Given the description of an element on the screen output the (x, y) to click on. 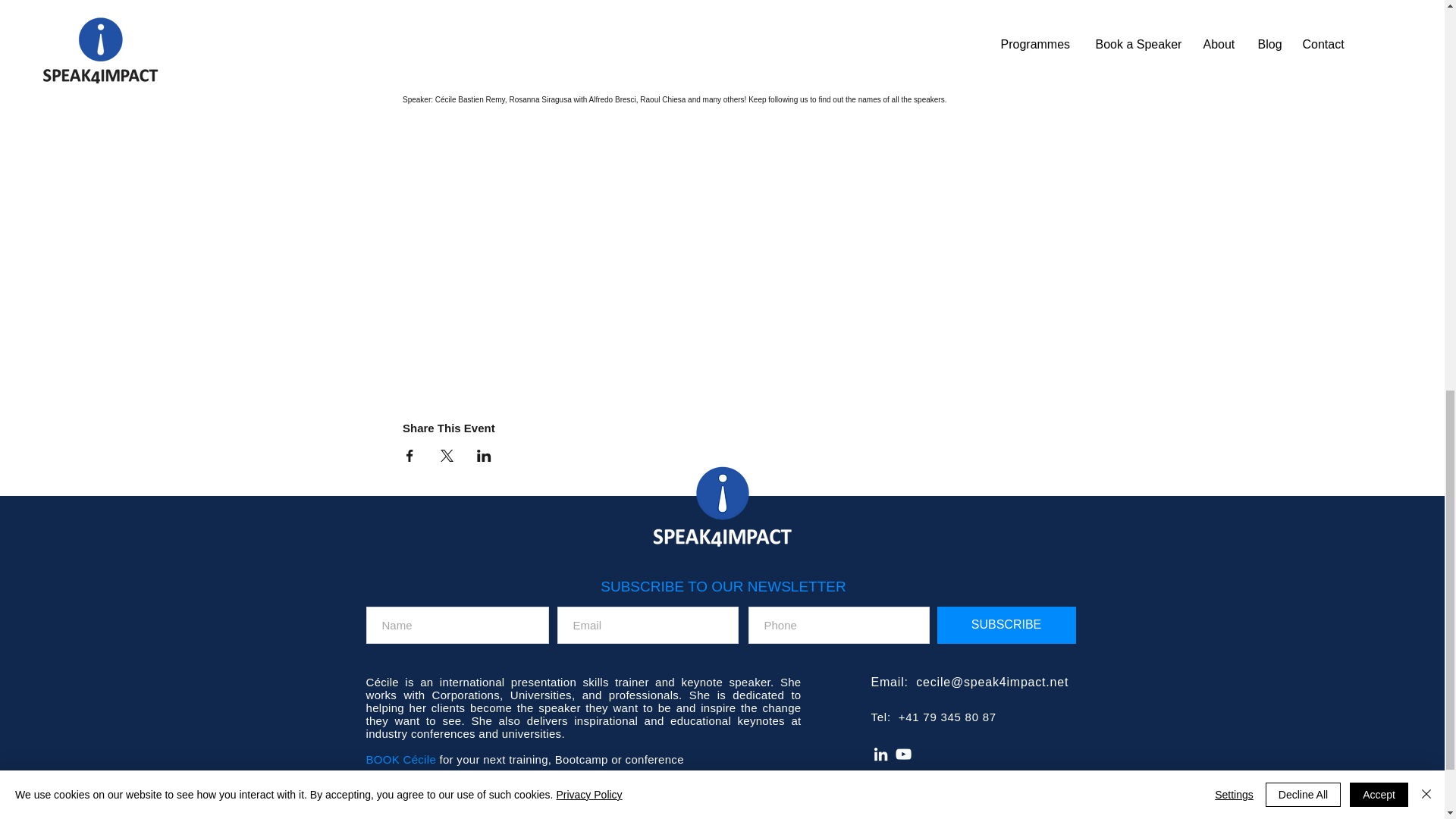
cile  (428, 758)
BOOK C (387, 758)
SUBSCRIBE (1006, 624)
